Given the description of an element on the screen output the (x, y) to click on. 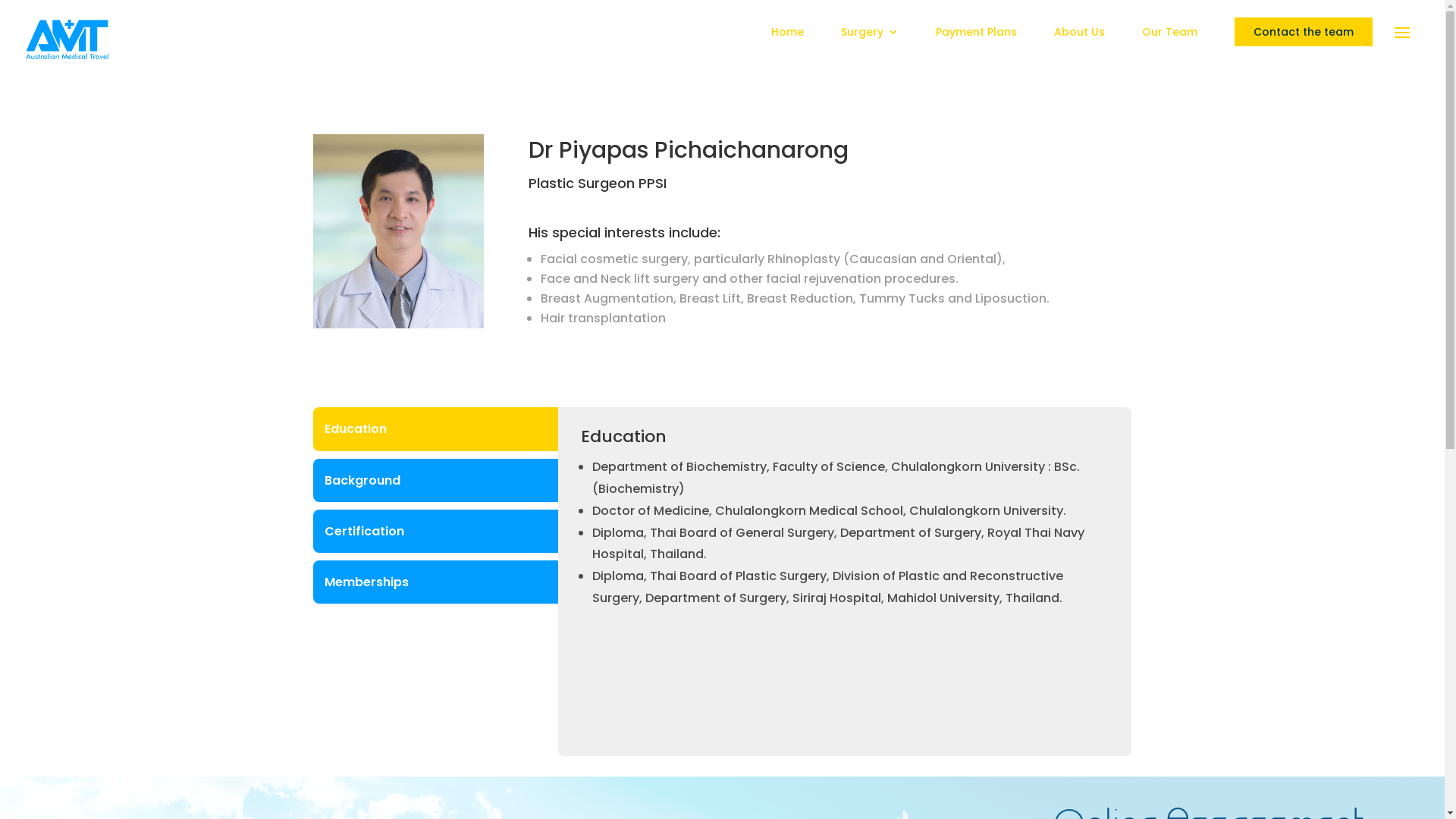
Payment Plans Element type: text (975, 43)
Memberships Element type: text (435, 581)
Contact the team Element type: text (1303, 31)
Certification Element type: text (435, 530)
Our Team Element type: text (1169, 43)
Background Element type: text (435, 480)
Surgery Element type: text (869, 43)
Home Element type: text (787, 43)
Education Element type: text (435, 428)
About Us Element type: text (1079, 43)
